Given the description of an element on the screen output the (x, y) to click on. 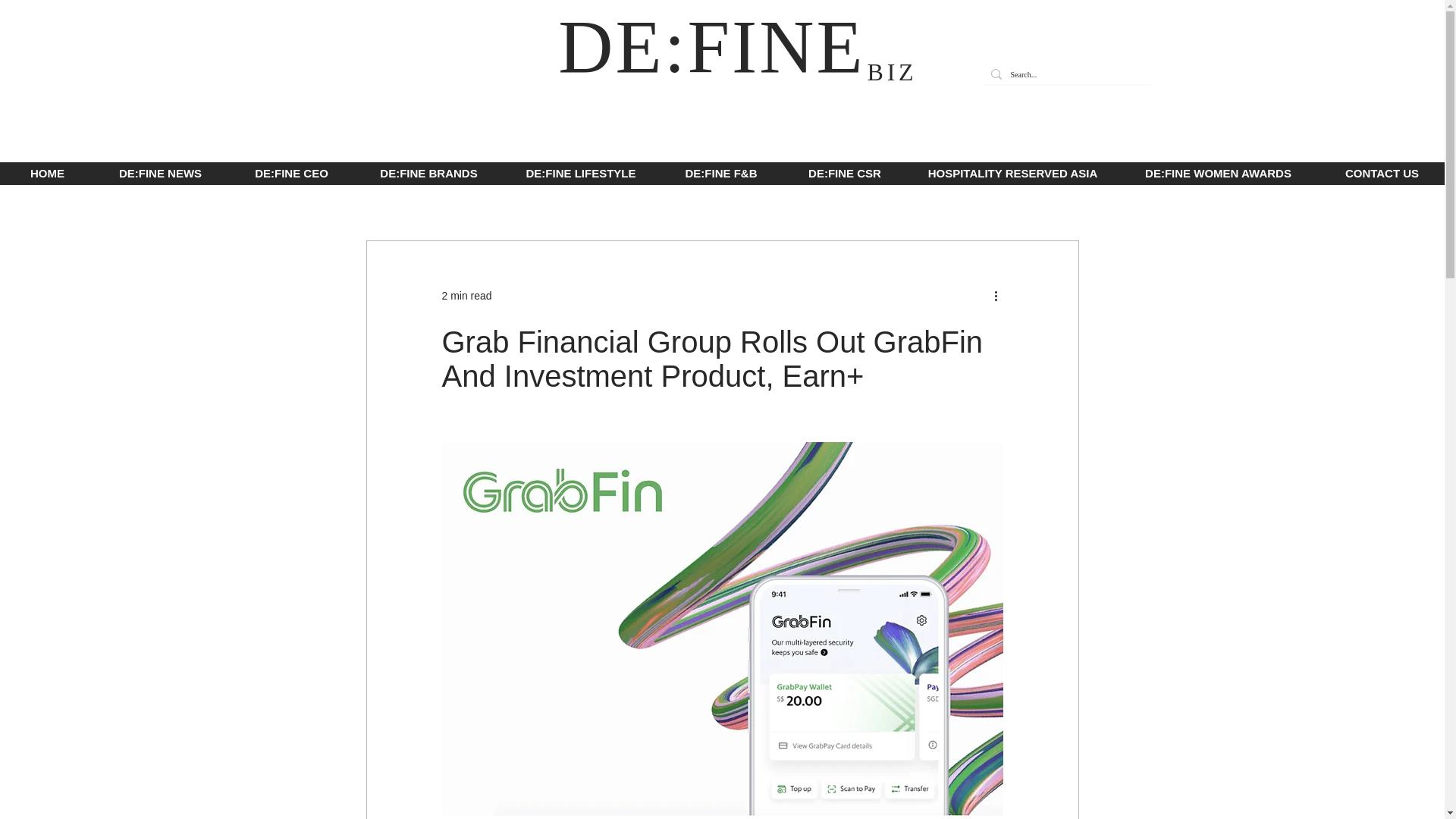
DE:FINE WOMEN AWARDS (1218, 173)
2 min read (466, 295)
DE:FINE LIFESTYLE (580, 173)
DE:FINE BRANDS (428, 173)
DE:FINE NEWS (159, 173)
BIZ (892, 71)
DE:FINE CEO (291, 173)
DE:FINE CSR (844, 173)
HOME (47, 173)
DE:FINE  (721, 45)
HOSPITALITY RESERVED ASIA (1012, 173)
